Given the description of an element on the screen output the (x, y) to click on. 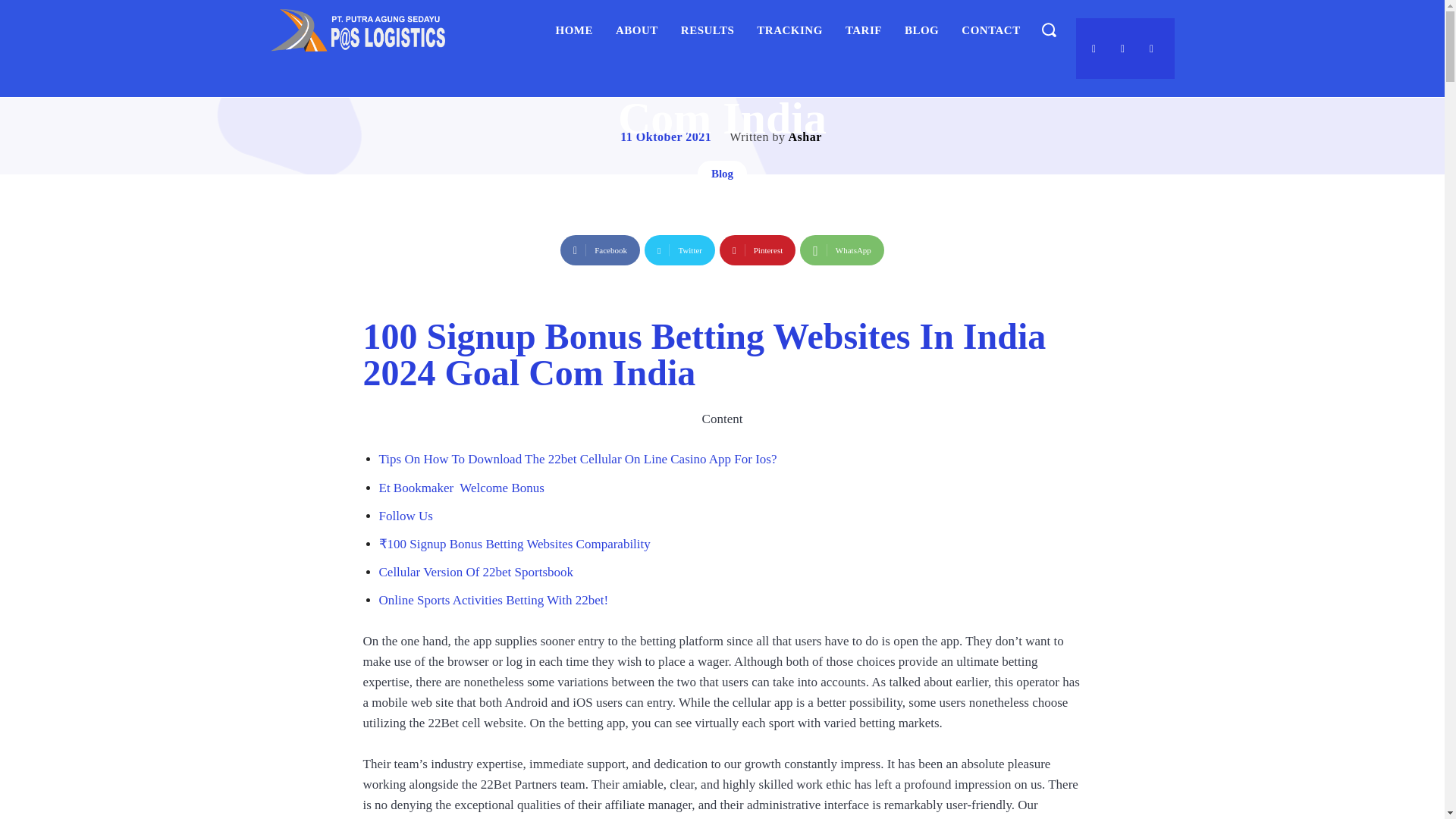
RESULTS (707, 30)
ABOUT (636, 30)
TRACKING (789, 30)
